Given the description of an element on the screen output the (x, y) to click on. 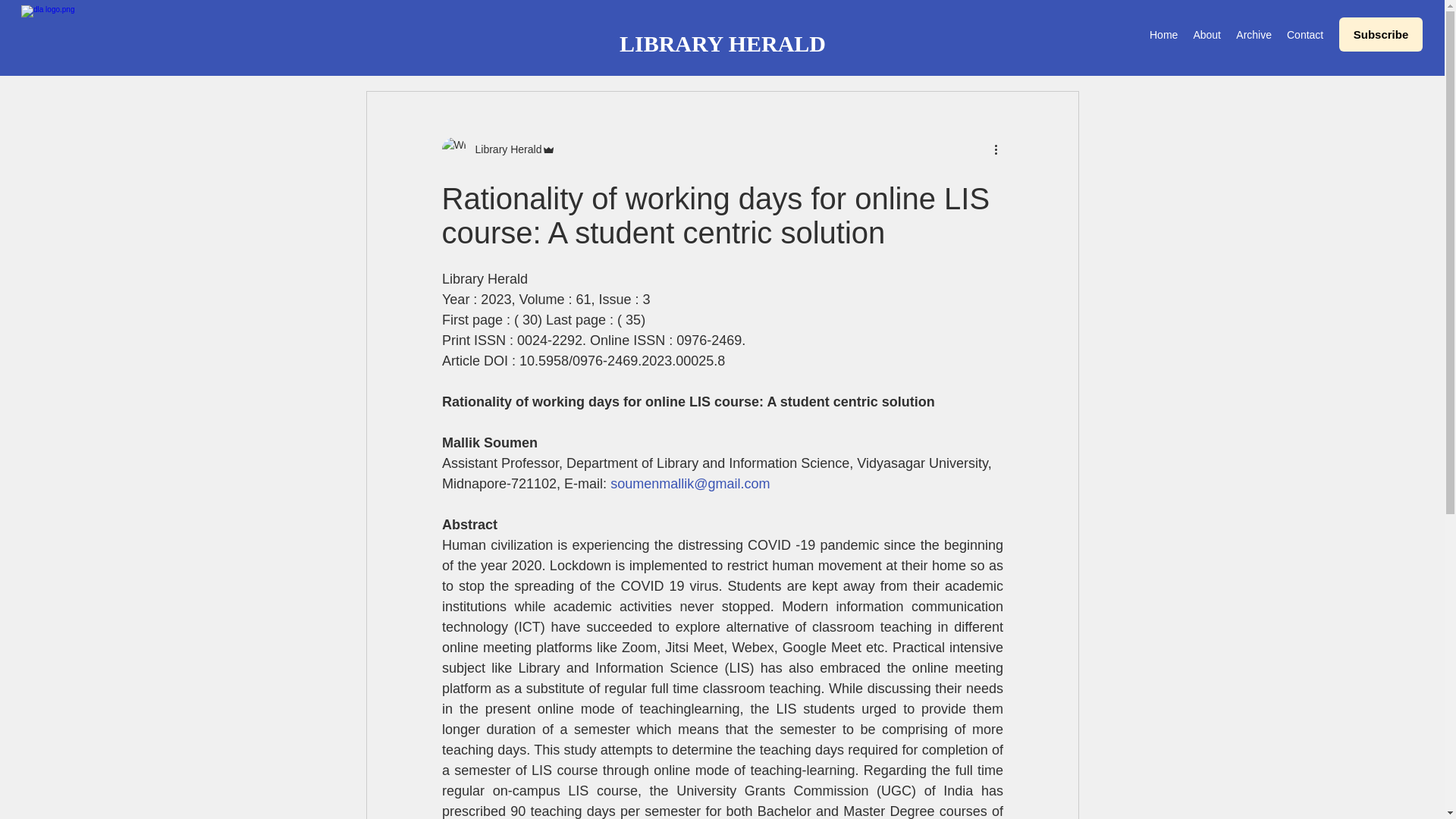
Archive (1253, 34)
LIBRARY HERALD (722, 43)
Contact (1304, 34)
Home (1163, 34)
Library Herald (503, 148)
About (1206, 34)
